Given the description of an element on the screen output the (x, y) to click on. 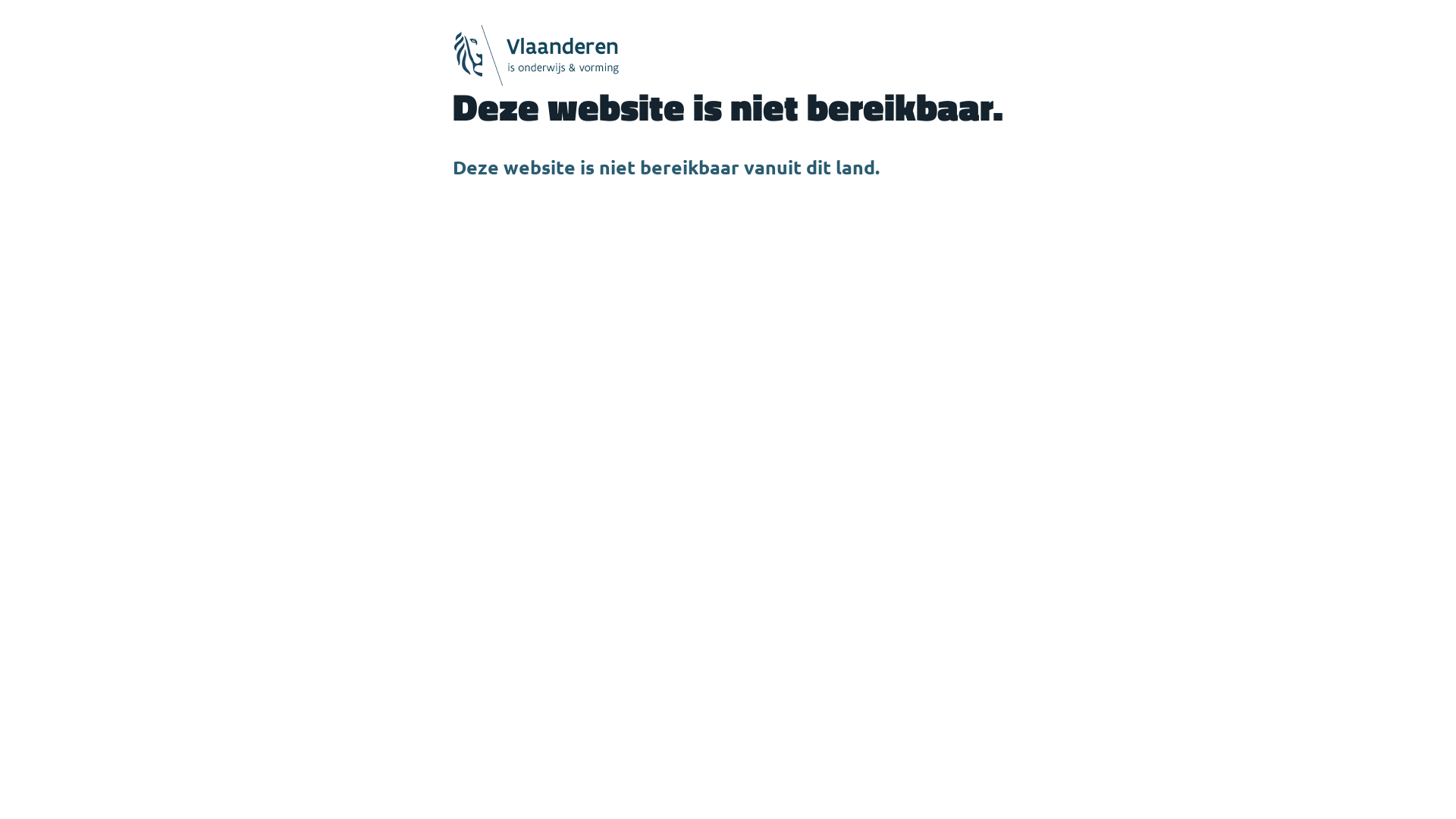
Skip to main content Element type: text (0, 0)
